Given the description of an element on the screen output the (x, y) to click on. 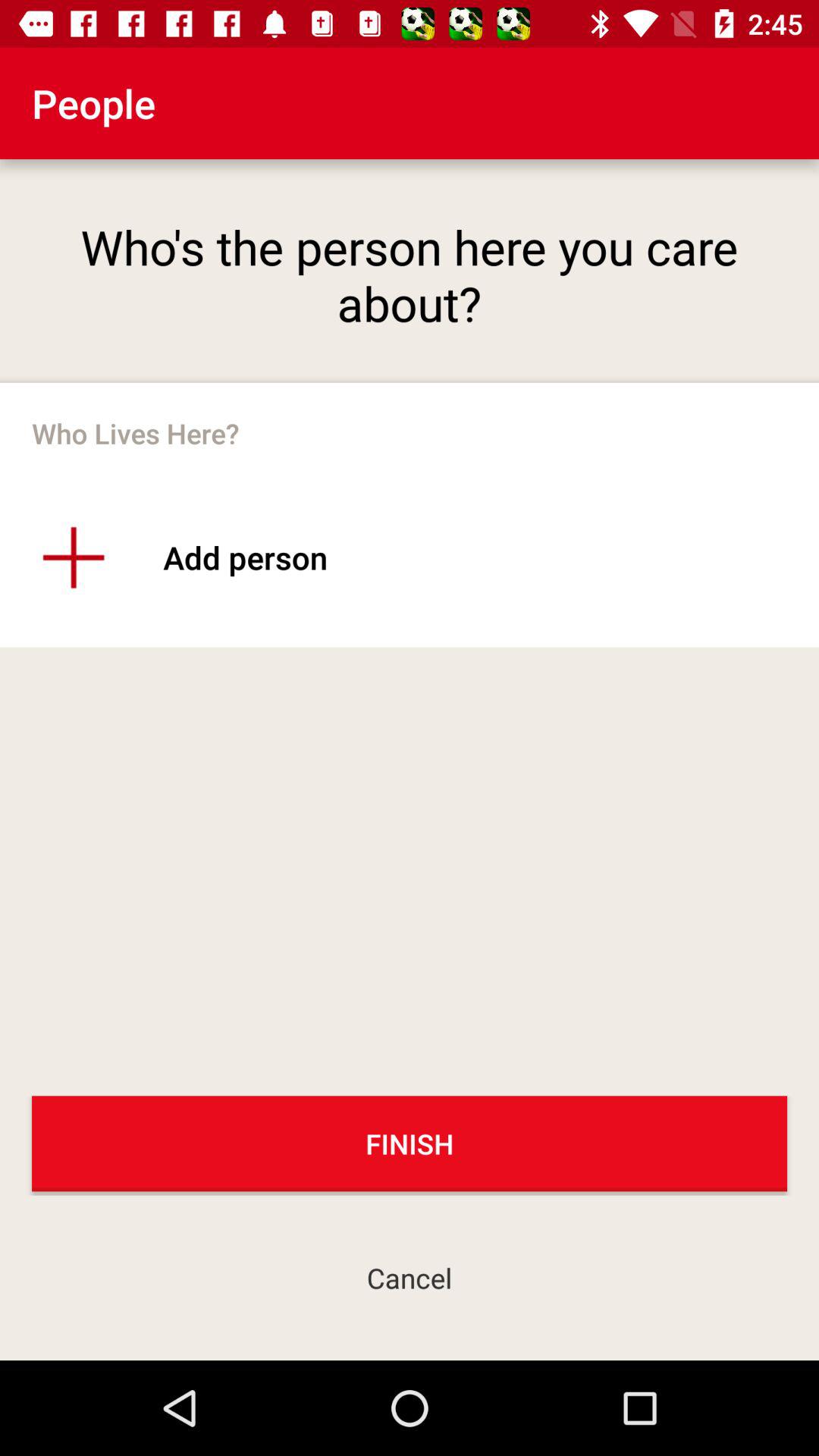
open finish (409, 1143)
